Given the description of an element on the screen output the (x, y) to click on. 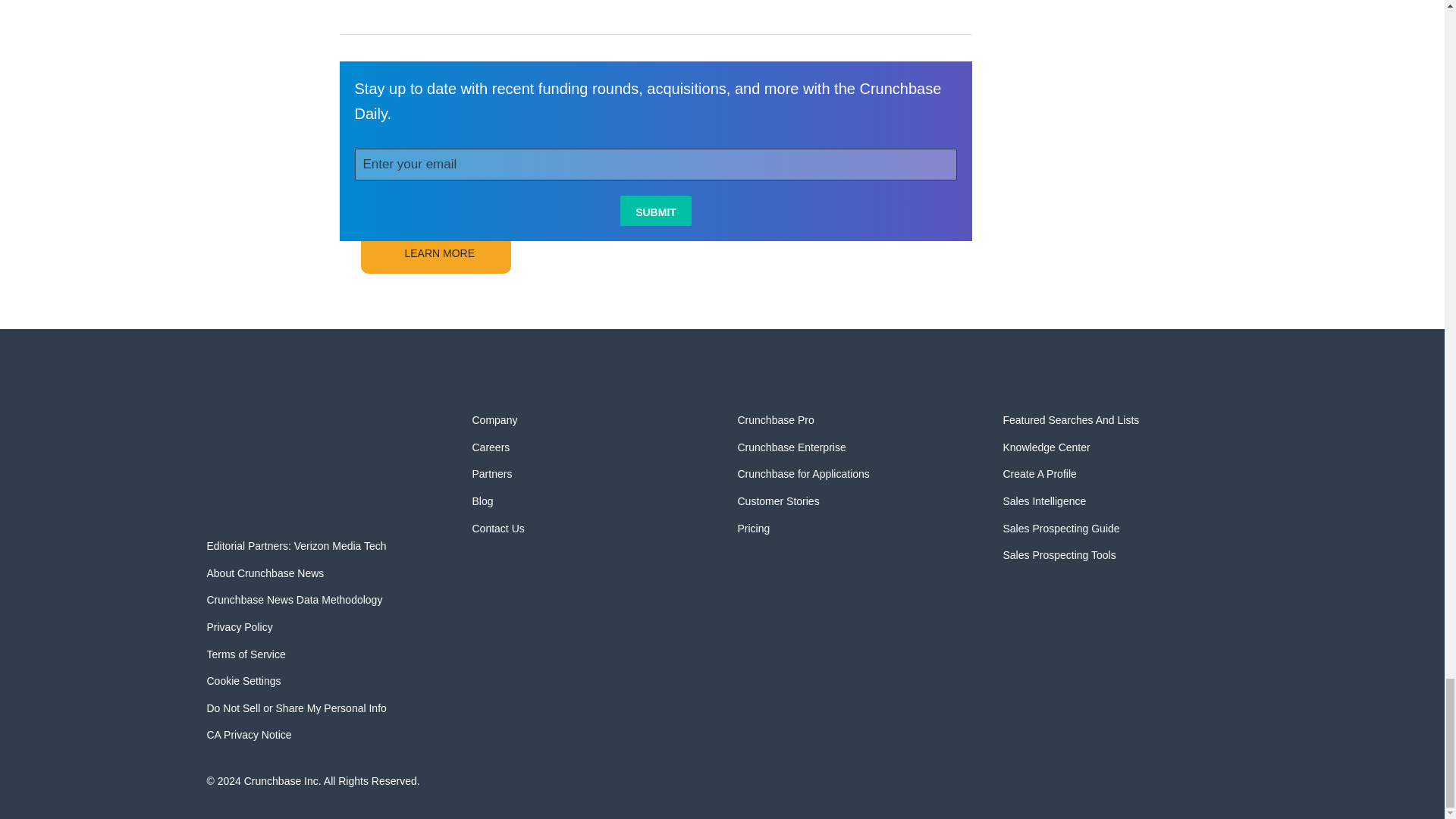
Submit (655, 210)
Enter your email (656, 164)
